Given the description of an element on the screen output the (x, y) to click on. 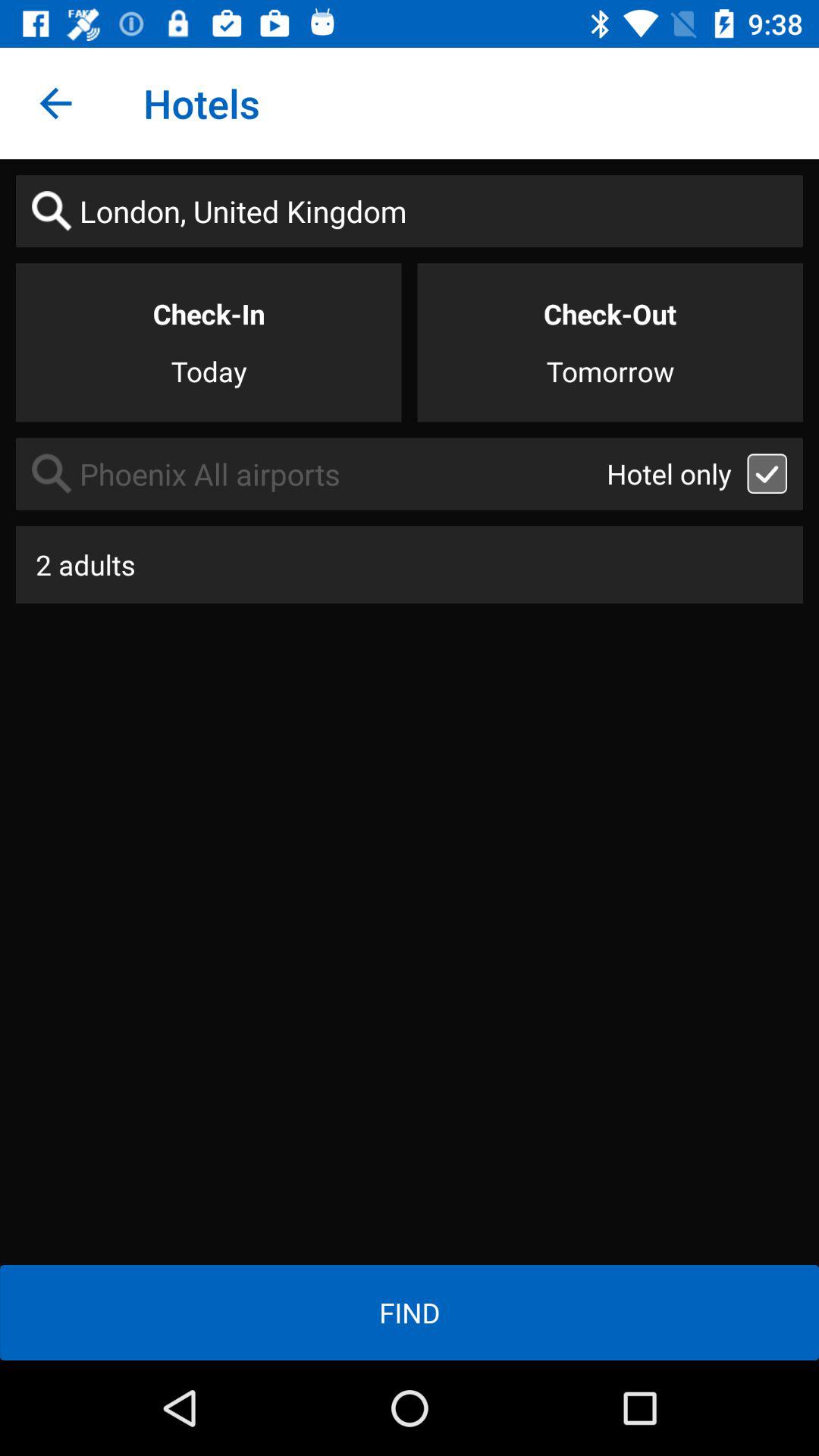
open item above the 2 adults (310, 473)
